Given the description of an element on the screen output the (x, y) to click on. 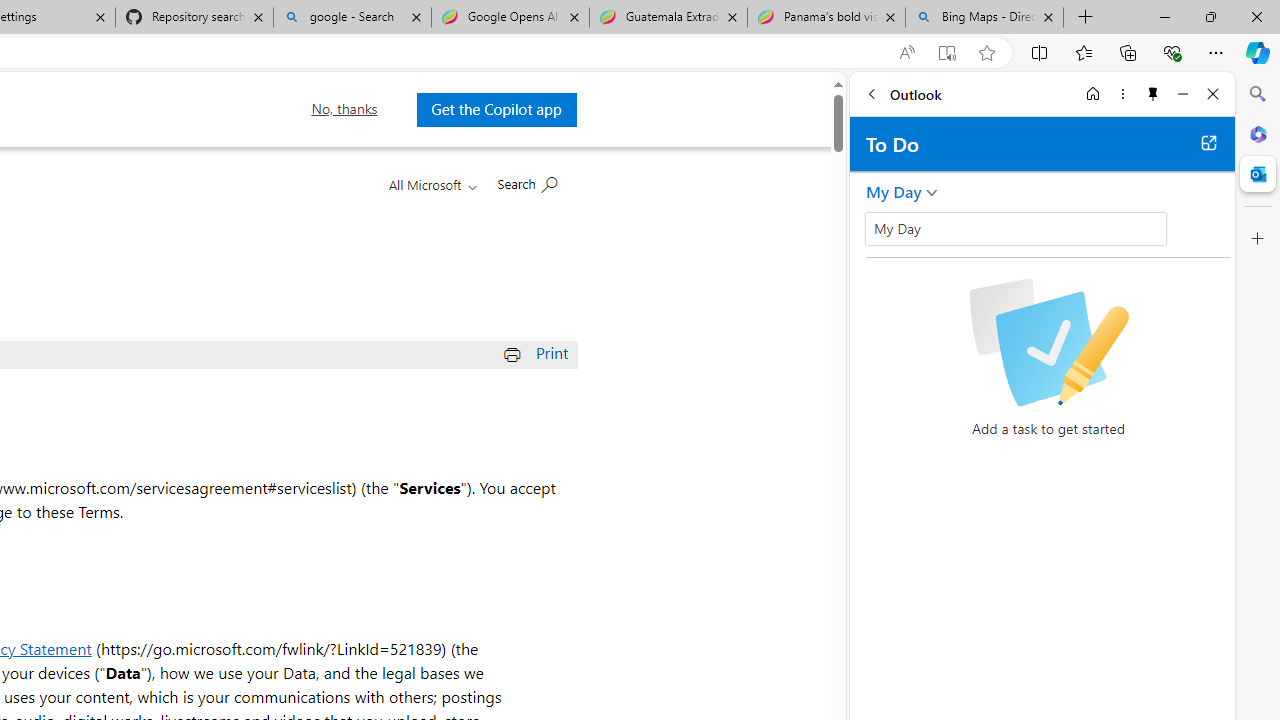
Add a task (1065, 235)
My Day (1016, 228)
Google Opens AI Academy for Startups - Nearshore Americas (509, 17)
